Given the description of an element on the screen output the (x, y) to click on. 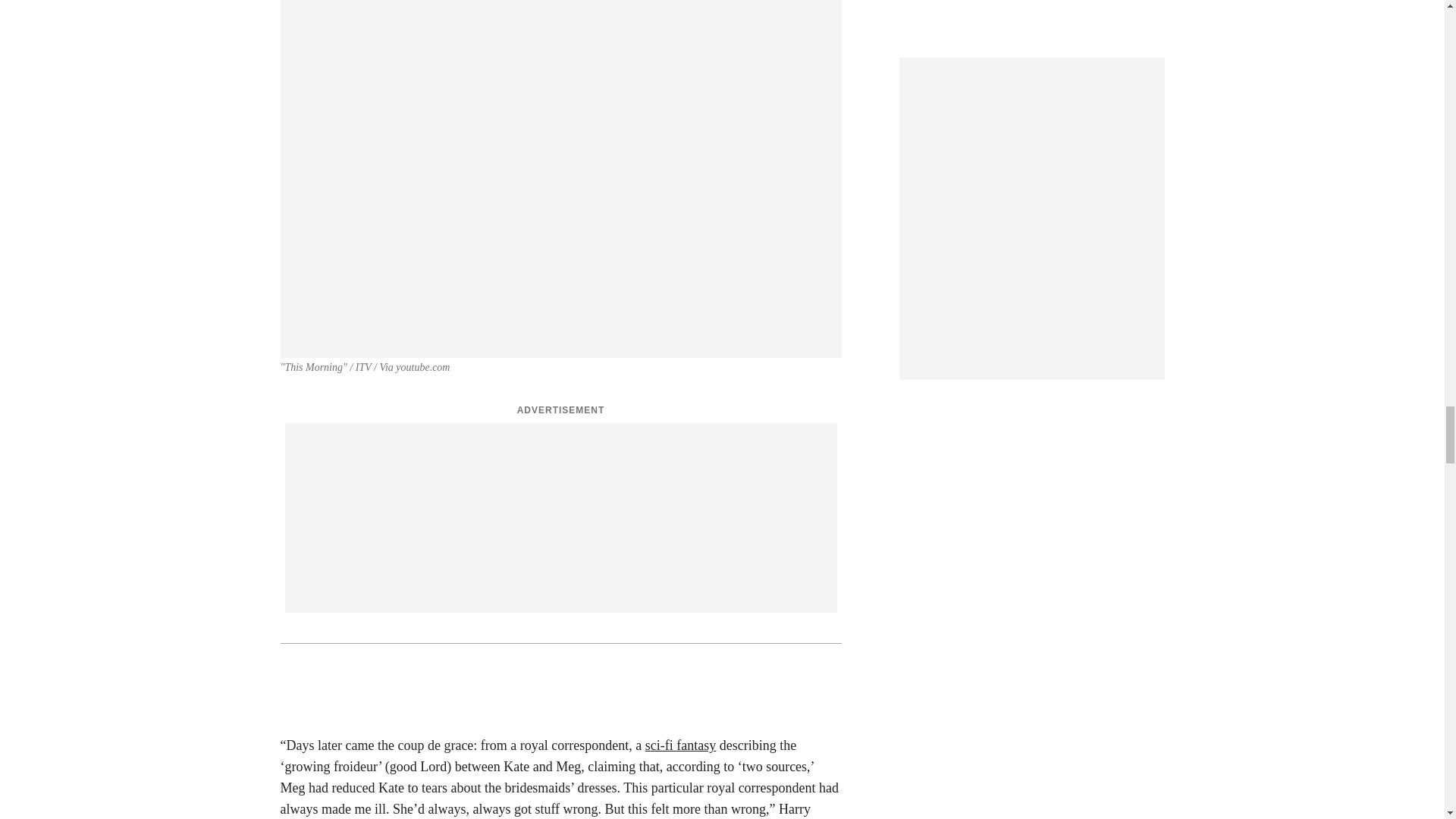
youtube.com (422, 367)
sci-fi fantasy (680, 744)
